Given the description of an element on the screen output the (x, y) to click on. 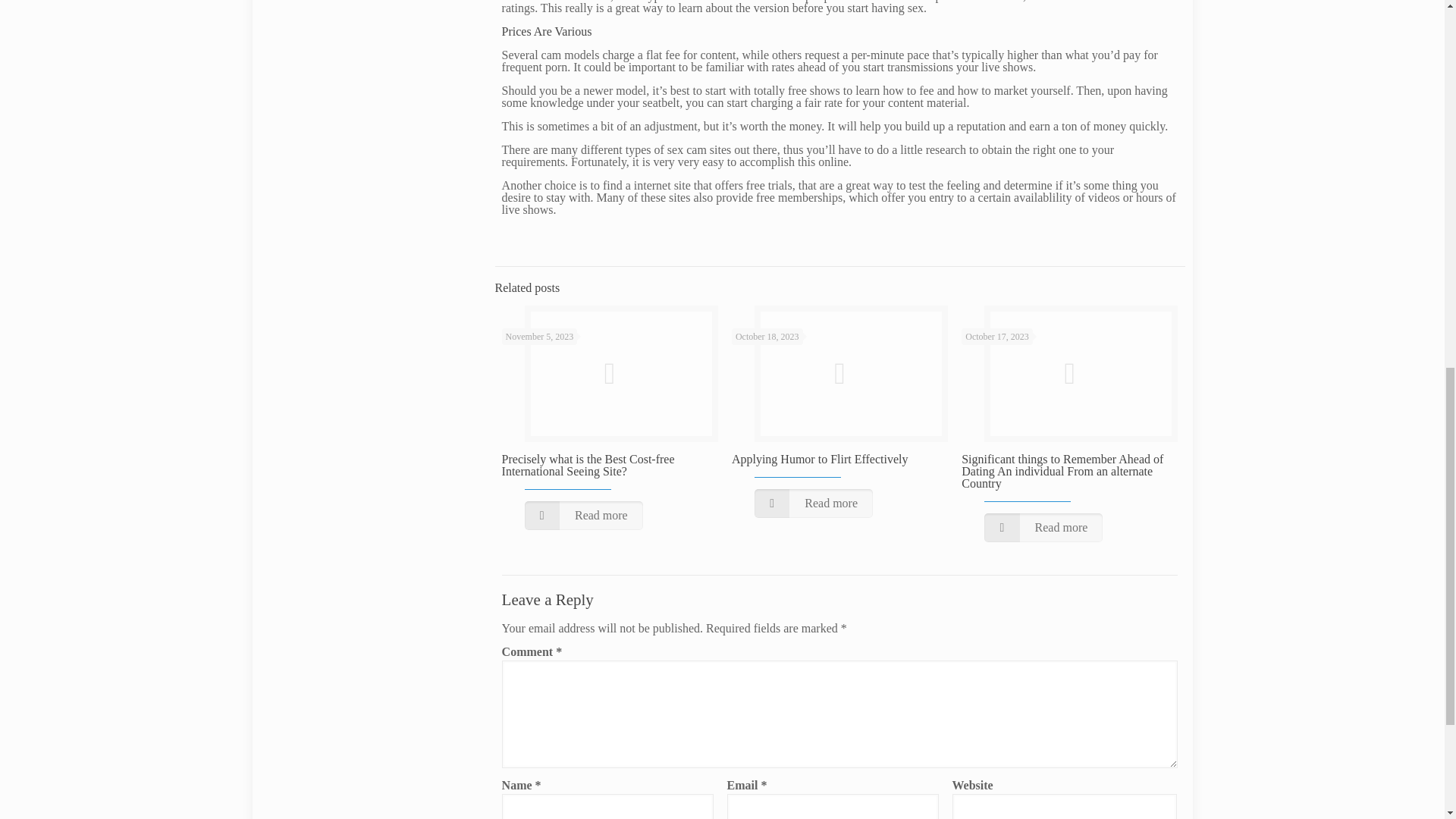
Applying Humor to Flirt Effectively (820, 459)
Read more (813, 502)
Read more (583, 515)
Read more (1043, 527)
